Given the description of an element on the screen output the (x, y) to click on. 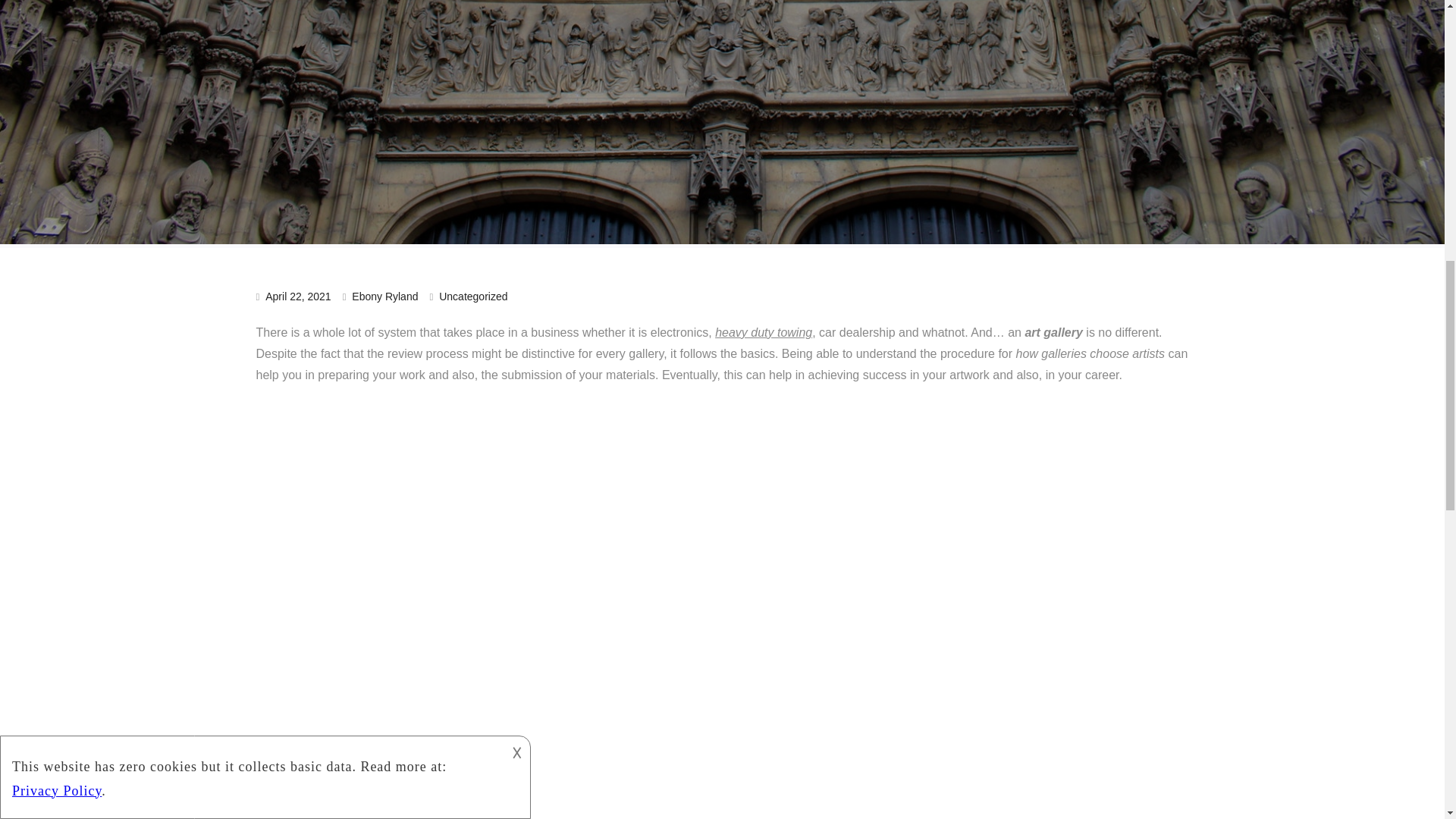
April 22, 2021 (297, 296)
Ebony Ryland (384, 296)
Uncategorized (472, 296)
